Given the description of an element on the screen output the (x, y) to click on. 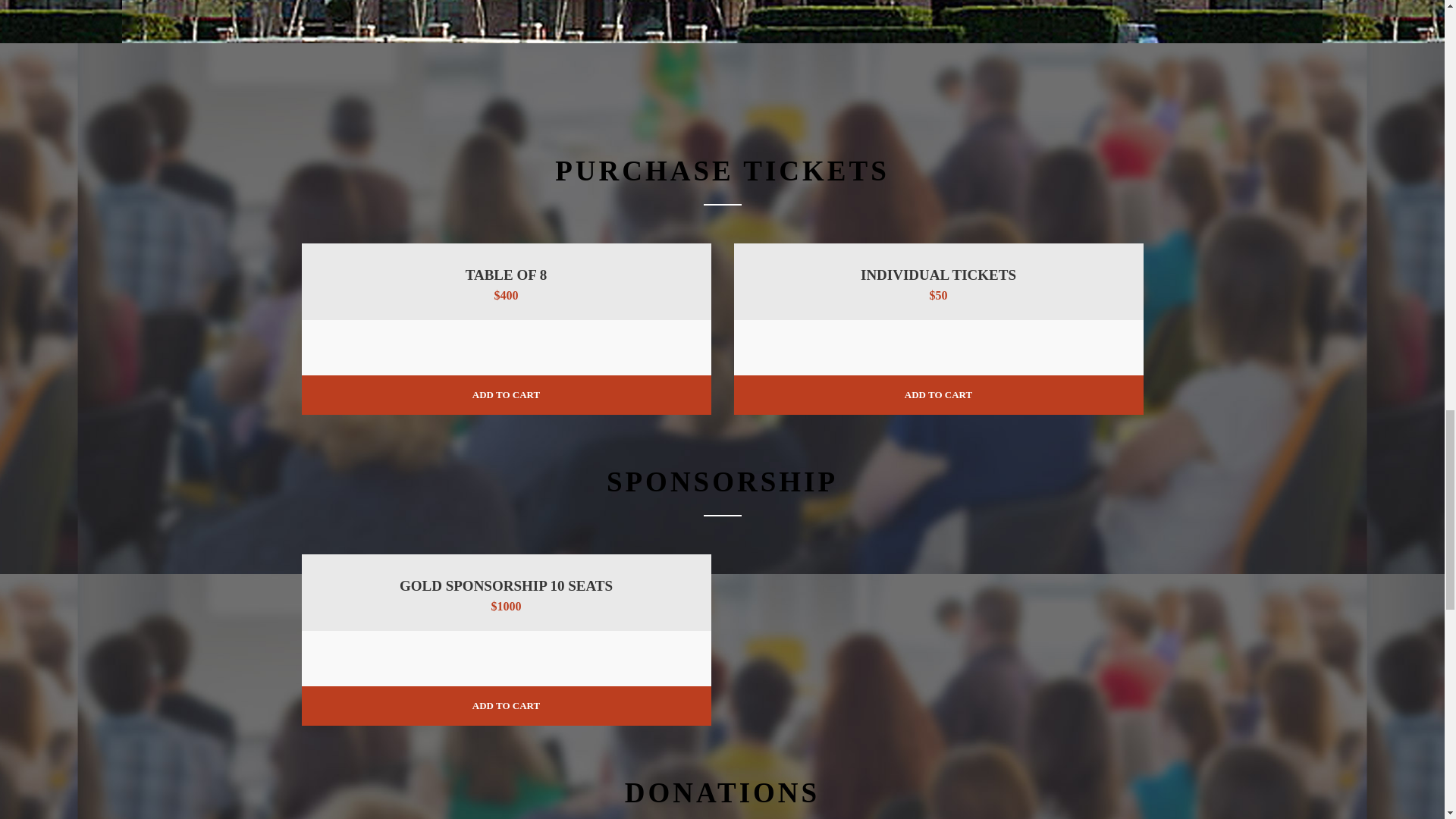
ADD TO CART (938, 394)
ADD TO CART (505, 394)
ADD TO CART (505, 705)
